Given the description of an element on the screen output the (x, y) to click on. 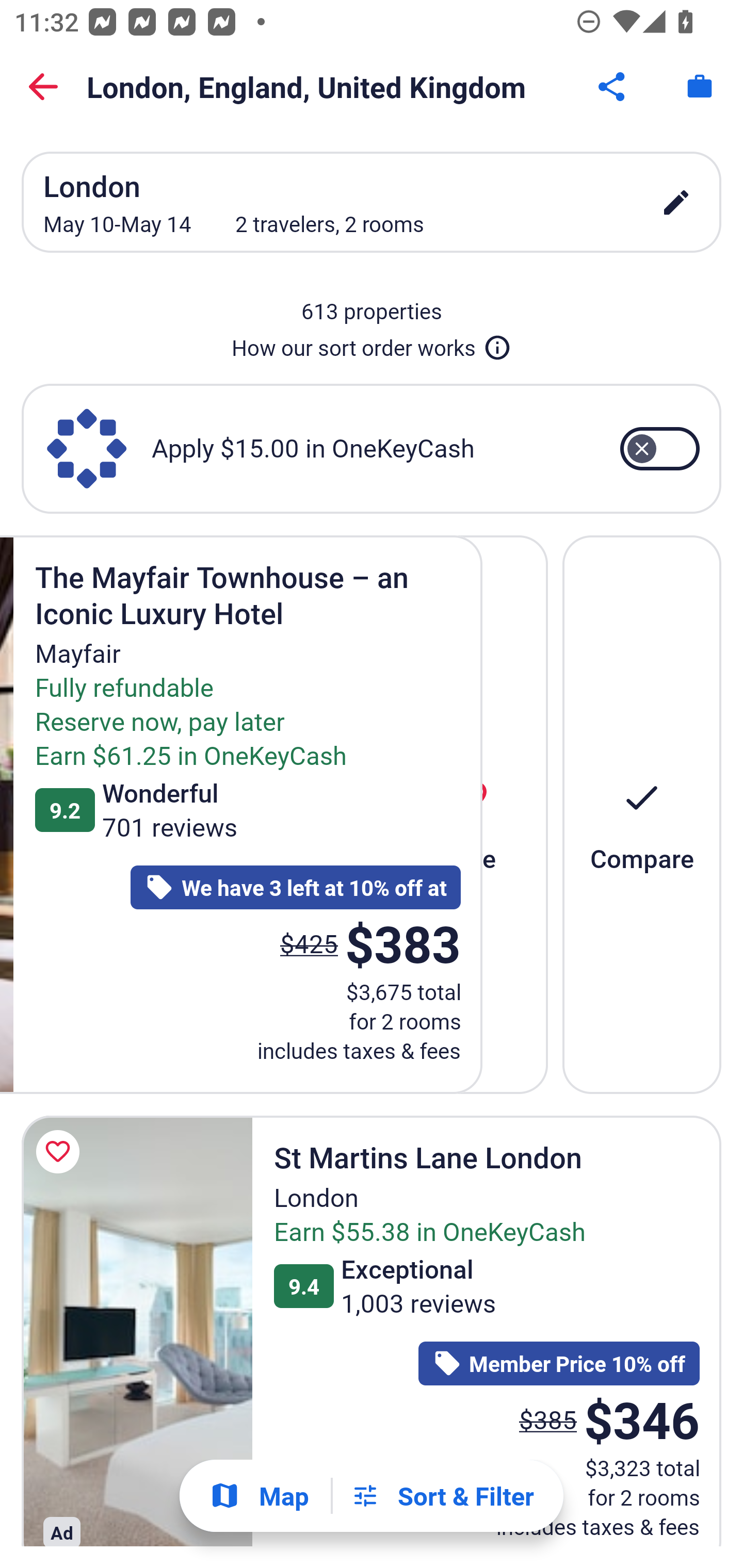
Back (43, 86)
Share Button (612, 86)
Trips. Button (699, 86)
London May 10-May 14 2 travelers, 2 rooms edit (371, 202)
How our sort order works (371, 344)
Compare (641, 814)
$425 The price was $425 (308, 943)
Save St Martins Lane London to a trip (61, 1151)
St Martins Lane London (136, 1331)
$385 The price was $385 (547, 1419)
Filters Sort & Filter Filters Button (442, 1495)
Show map Map Show map Button (258, 1495)
